Given the description of an element on the screen output the (x, y) to click on. 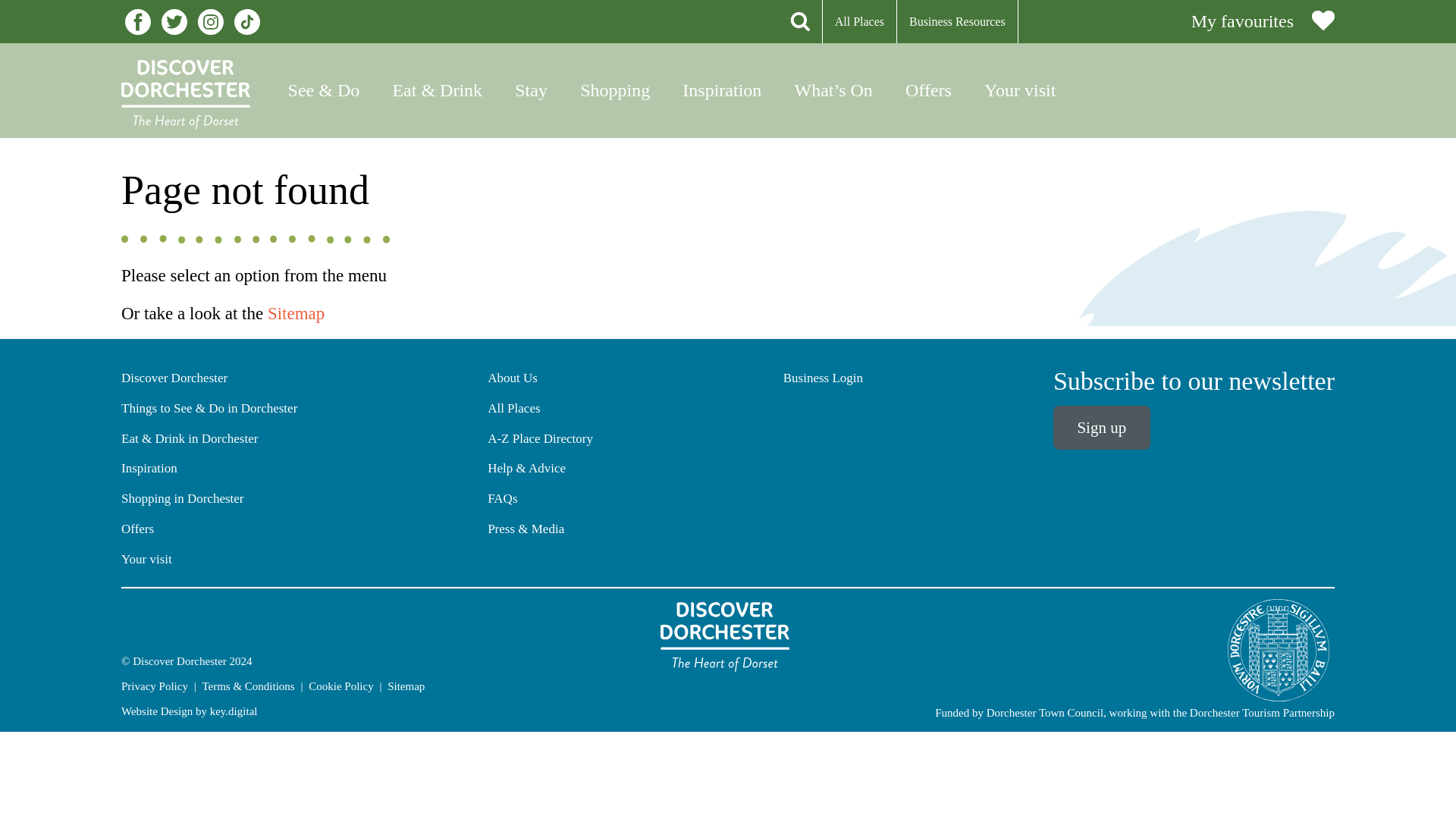
All Places (865, 21)
Shopping (615, 90)
Business Resources (962, 21)
My favourites (1263, 21)
Search (798, 21)
